Given the description of an element on the screen output the (x, y) to click on. 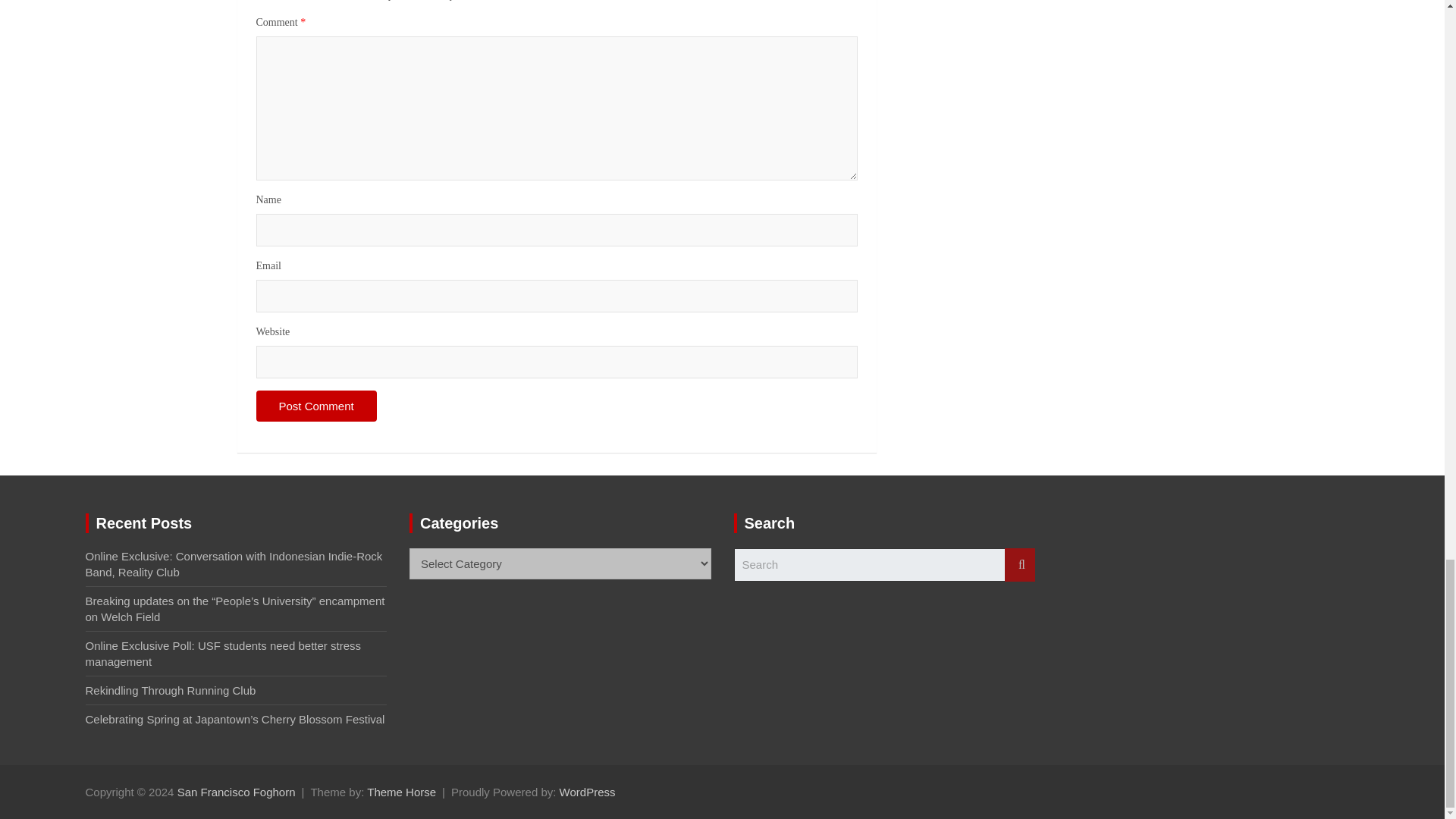
San Francisco Foghorn (236, 791)
WordPress (587, 791)
Post Comment (316, 405)
Post Comment (316, 405)
Theme Horse (400, 791)
